Given the description of an element on the screen output the (x, y) to click on. 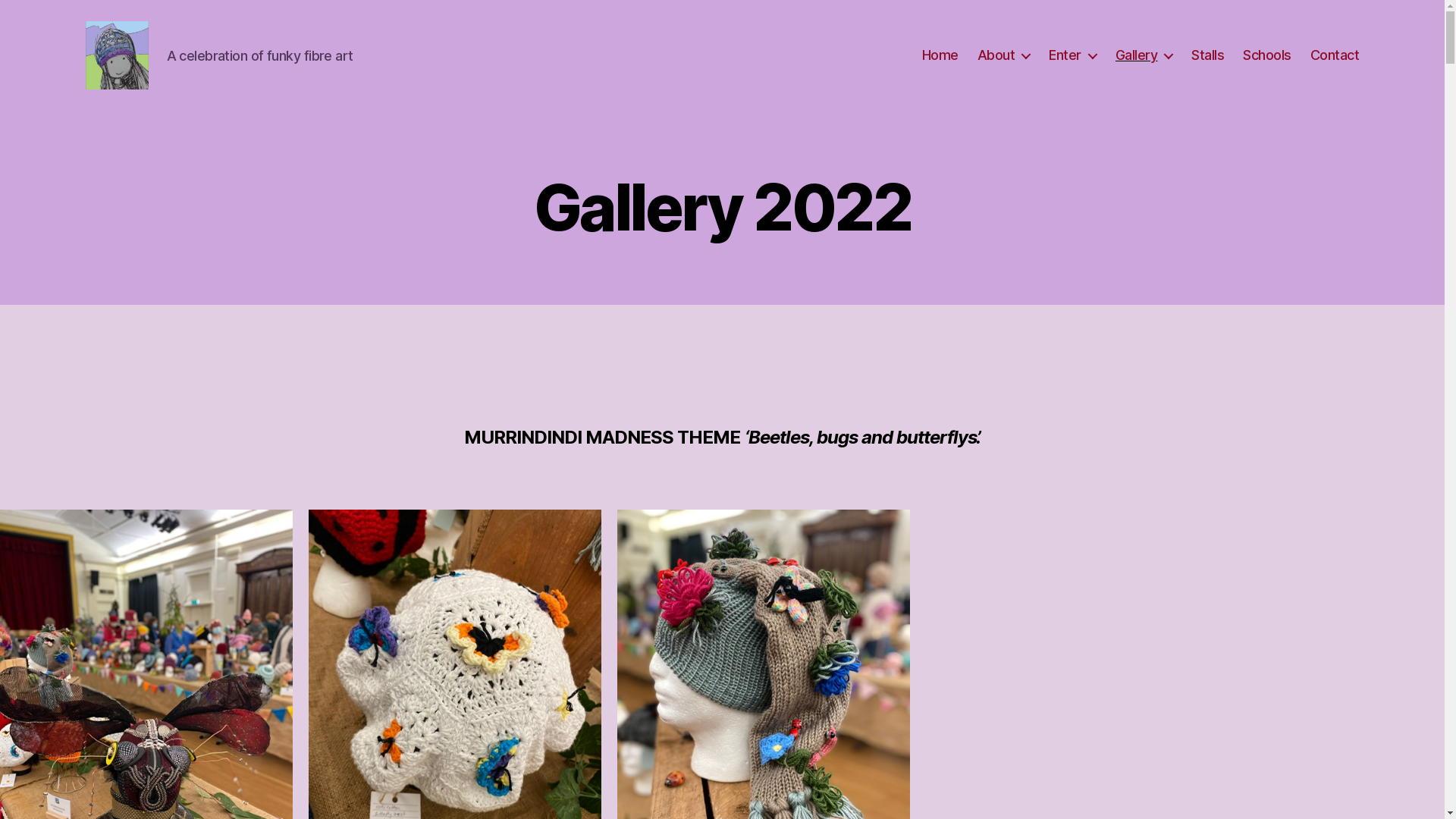
Enter Element type: text (1072, 55)
Schools Element type: text (1266, 55)
Home Element type: text (940, 55)
About Element type: text (1003, 55)
Contact Element type: text (1334, 55)
Stalls Element type: text (1207, 55)
Gallery Element type: text (1144, 55)
